Given the description of an element on the screen output the (x, y) to click on. 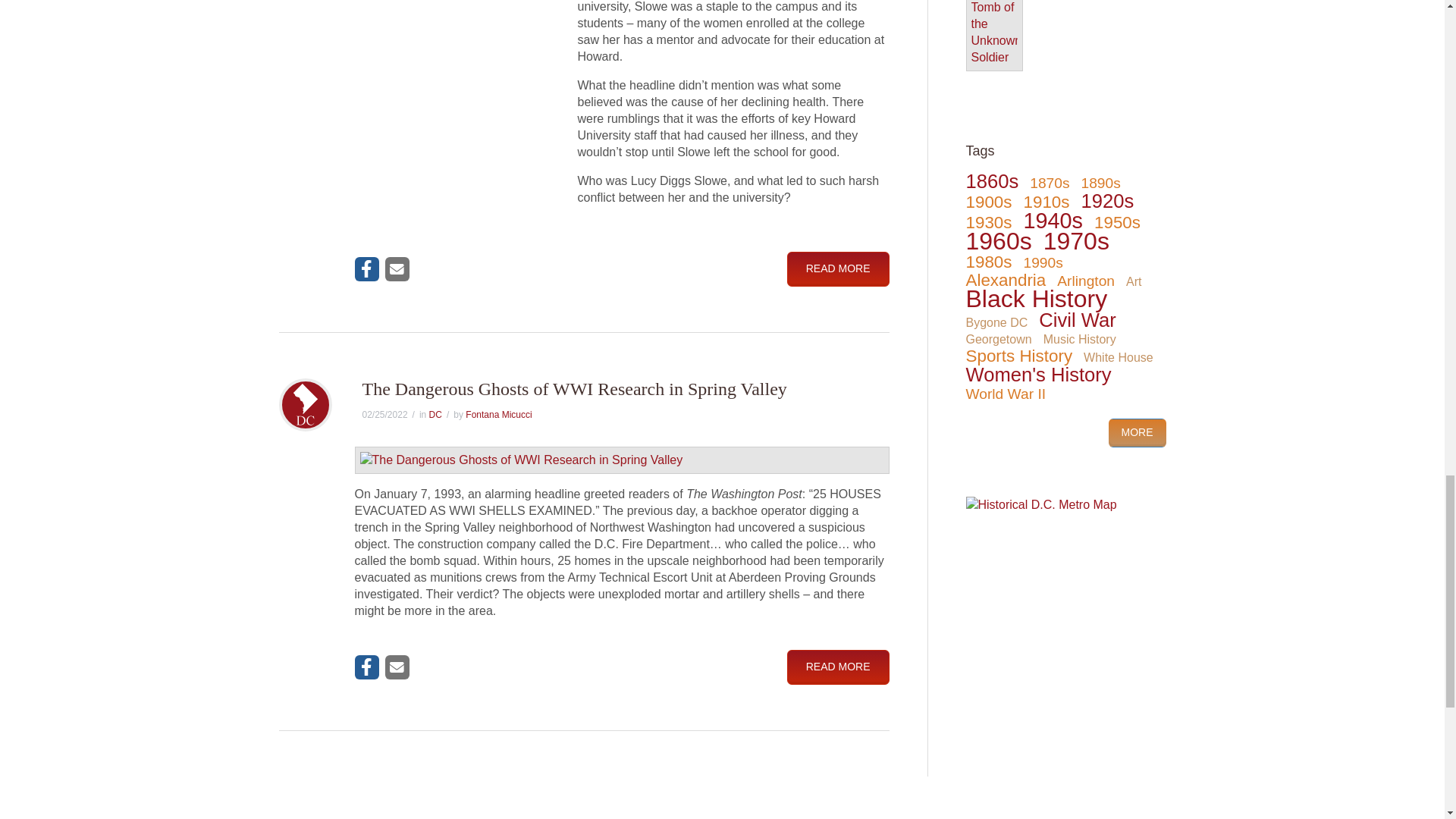
READ MORE (838, 268)
DC (435, 414)
View user profile. (498, 414)
The Dangerous Ghosts of WWI Research in Spring Valley (574, 388)
Share by Email (397, 269)
Fontana Micucci (498, 414)
Share by Facebook (366, 269)
